Given the description of an element on the screen output the (x, y) to click on. 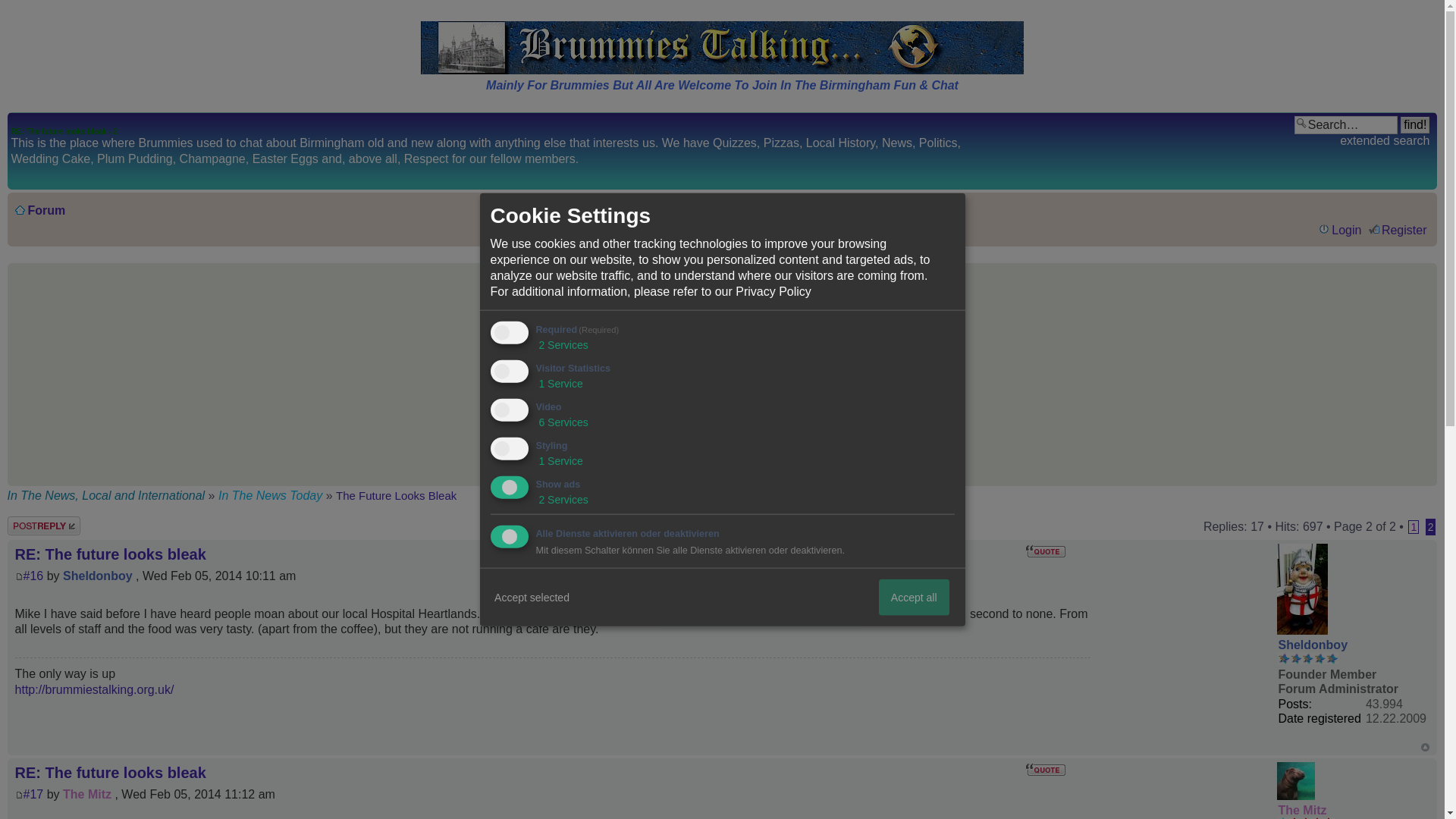
Login (1339, 229)
The Mitz (1302, 809)
Forum (46, 210)
Search (1345, 125)
RE: The future looks bleak (33, 575)
In The News Today (272, 495)
RE: The future looks bleak (33, 793)
RE: The future looks bleak (110, 772)
1 (1412, 526)
reply (53, 525)
Sheldonboy (1313, 644)
extended search (1384, 140)
extended search (1384, 140)
reply (53, 525)
Top (1425, 746)
